Given the description of an element on the screen output the (x, y) to click on. 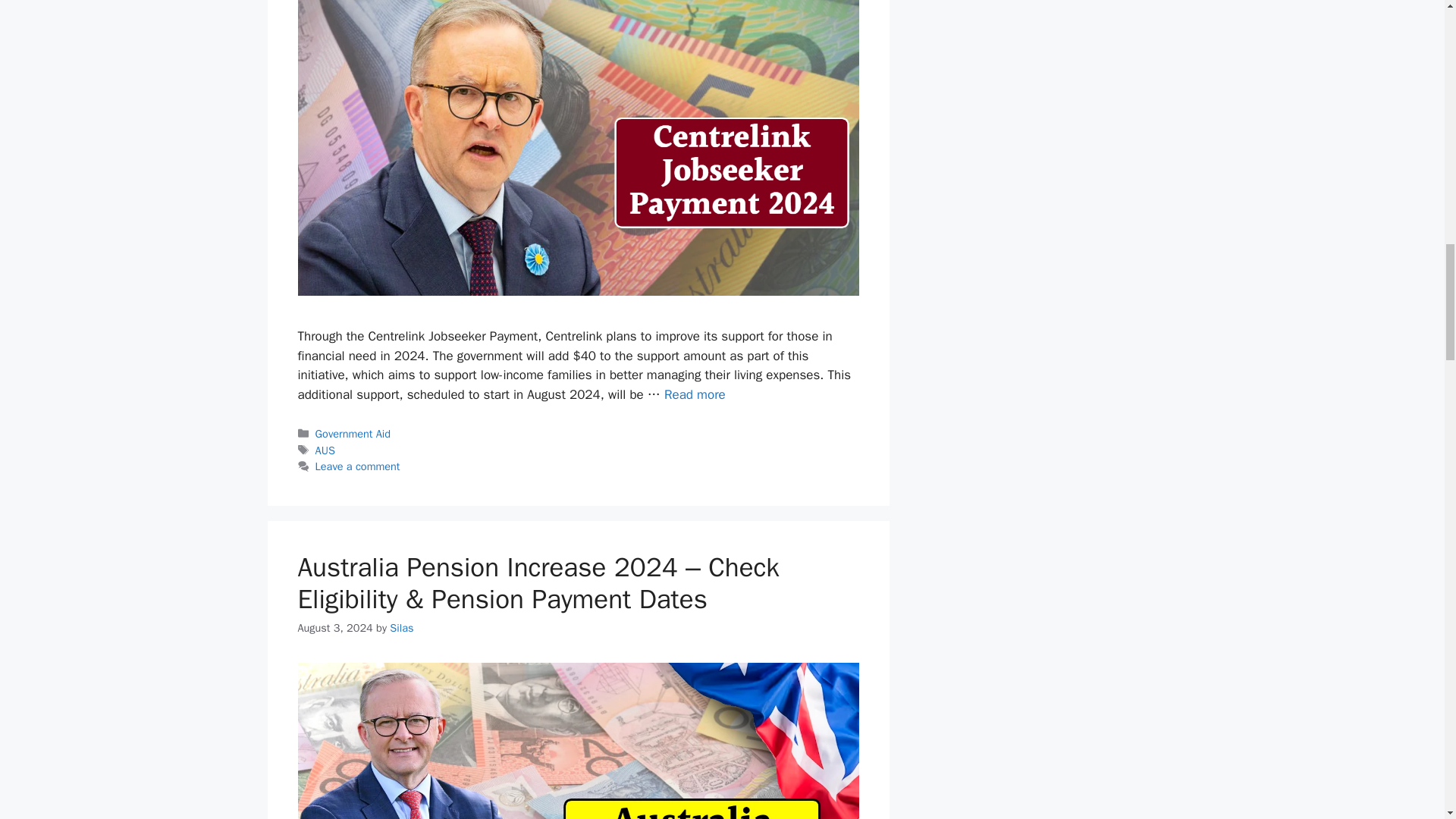
Government Aid (352, 433)
View all posts by Silas (401, 627)
Leave a comment (357, 466)
Silas (401, 627)
AUS (324, 450)
Read more (694, 394)
